Given the description of an element on the screen output the (x, y) to click on. 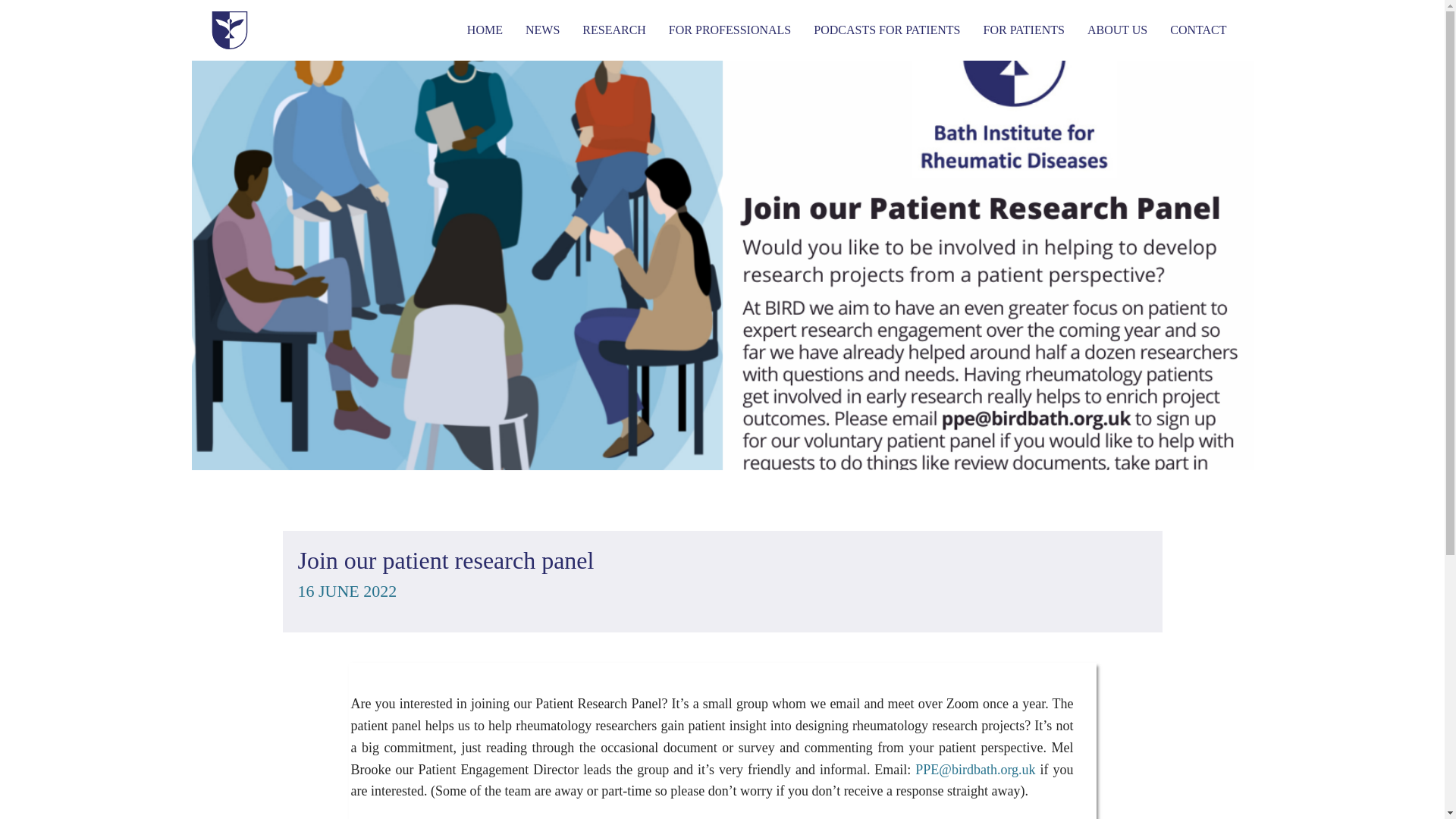
HOME (484, 30)
Home (484, 30)
News (542, 30)
For Professionals (729, 30)
RESEARCH (613, 30)
PODCASTS FOR PATIENTS (886, 30)
Podcasts For Patients (886, 30)
FOR PROFESSIONALS (729, 30)
NEWS (542, 30)
Research (613, 30)
